Given the description of an element on the screen output the (x, y) to click on. 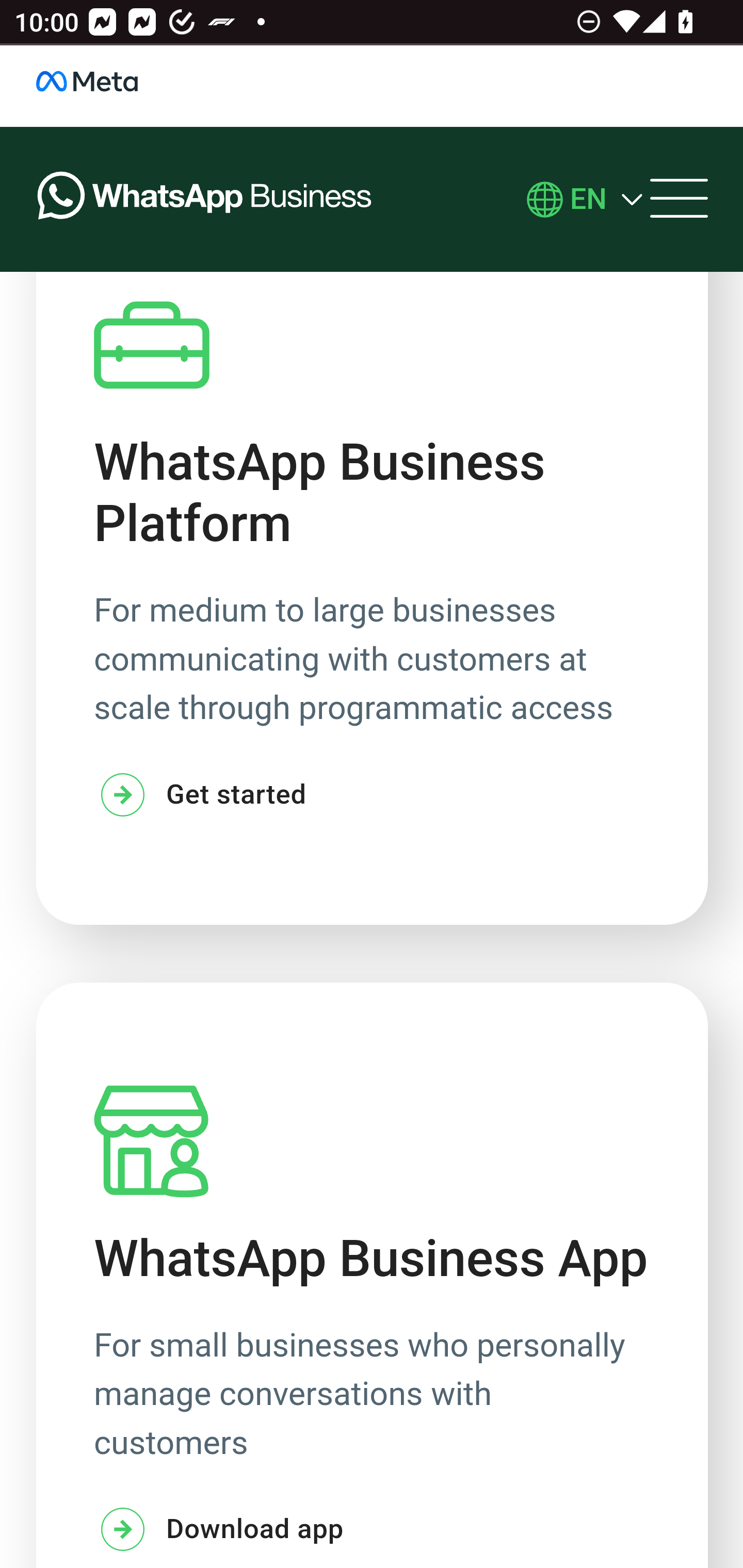
business (108, 86)
WhatsApp for Business logo (204, 200)
EN (588, 200)
Get started (199, 796)
Download app (218, 1531)
